Given the description of an element on the screen output the (x, y) to click on. 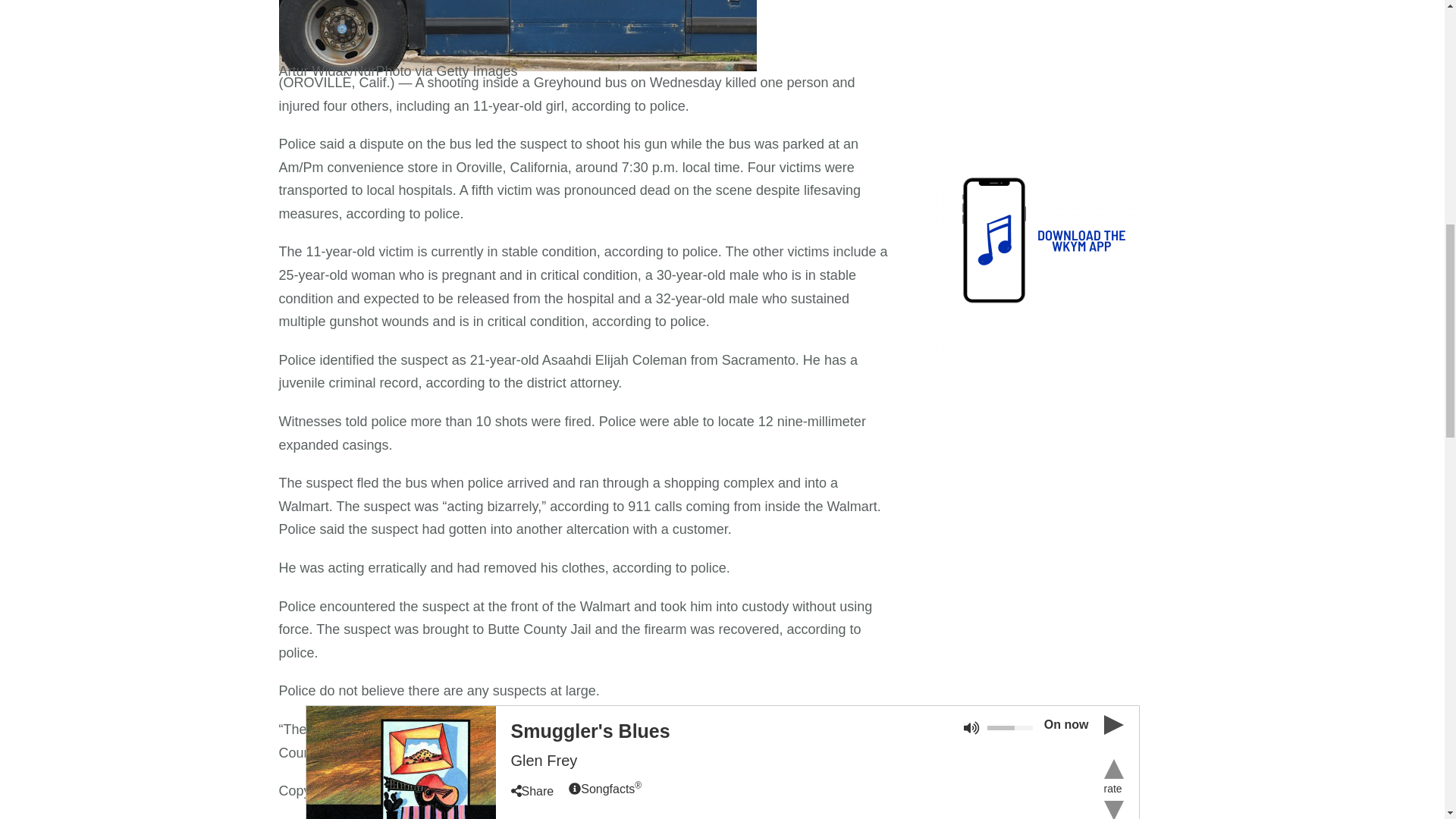
Artist Bio (516, 52)
Discography (590, 51)
Discography (590, 51)
Expand (400, 38)
Artist Bio (516, 52)
